Given the description of an element on the screen output the (x, y) to click on. 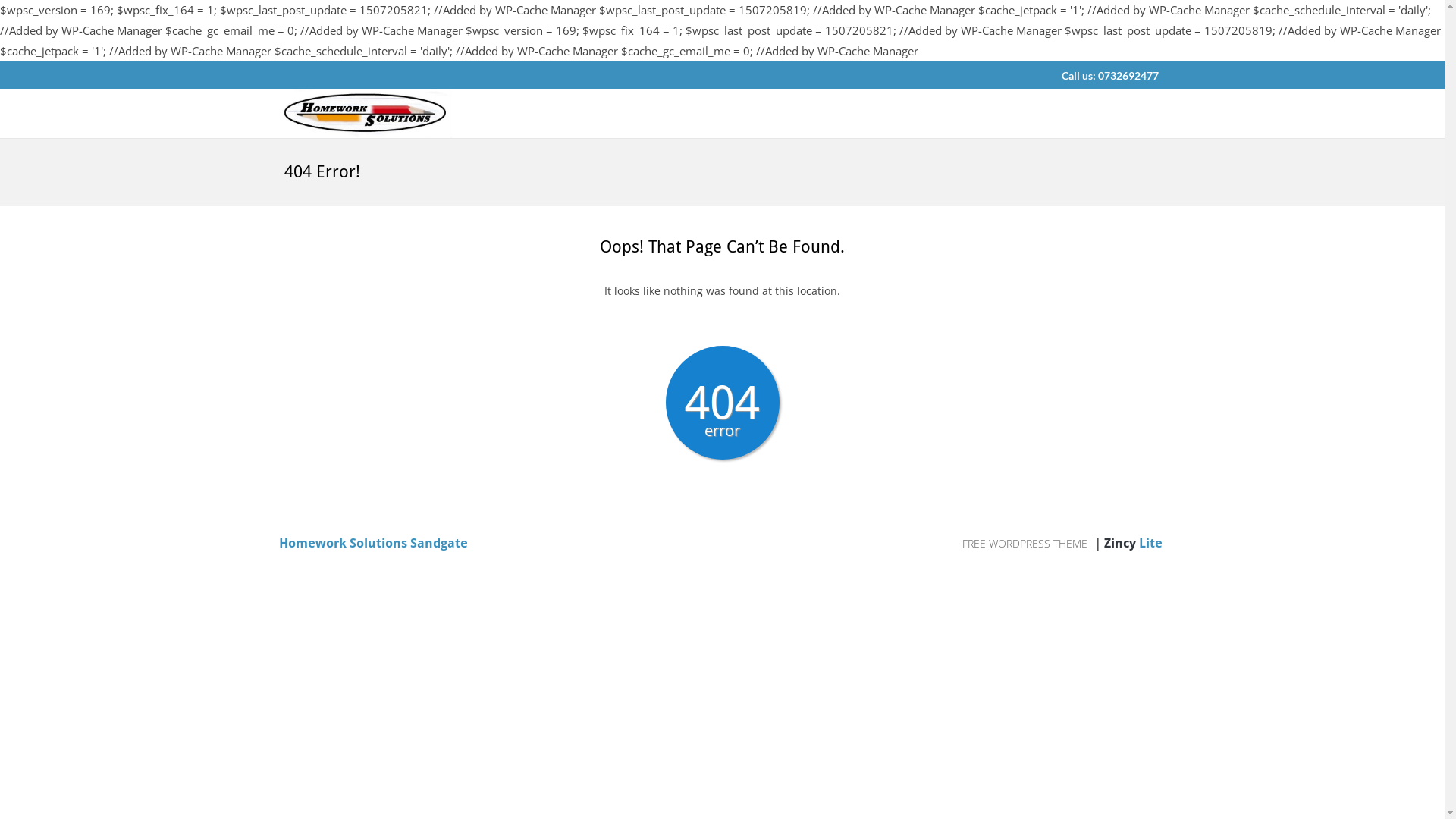
Homework Solutions Sandgate Element type: text (373, 542)
FREE WORDPRESS THEME Element type: text (1025, 542)
Zincy Lite Element type: text (1135, 543)
